Given the description of an element on the screen output the (x, y) to click on. 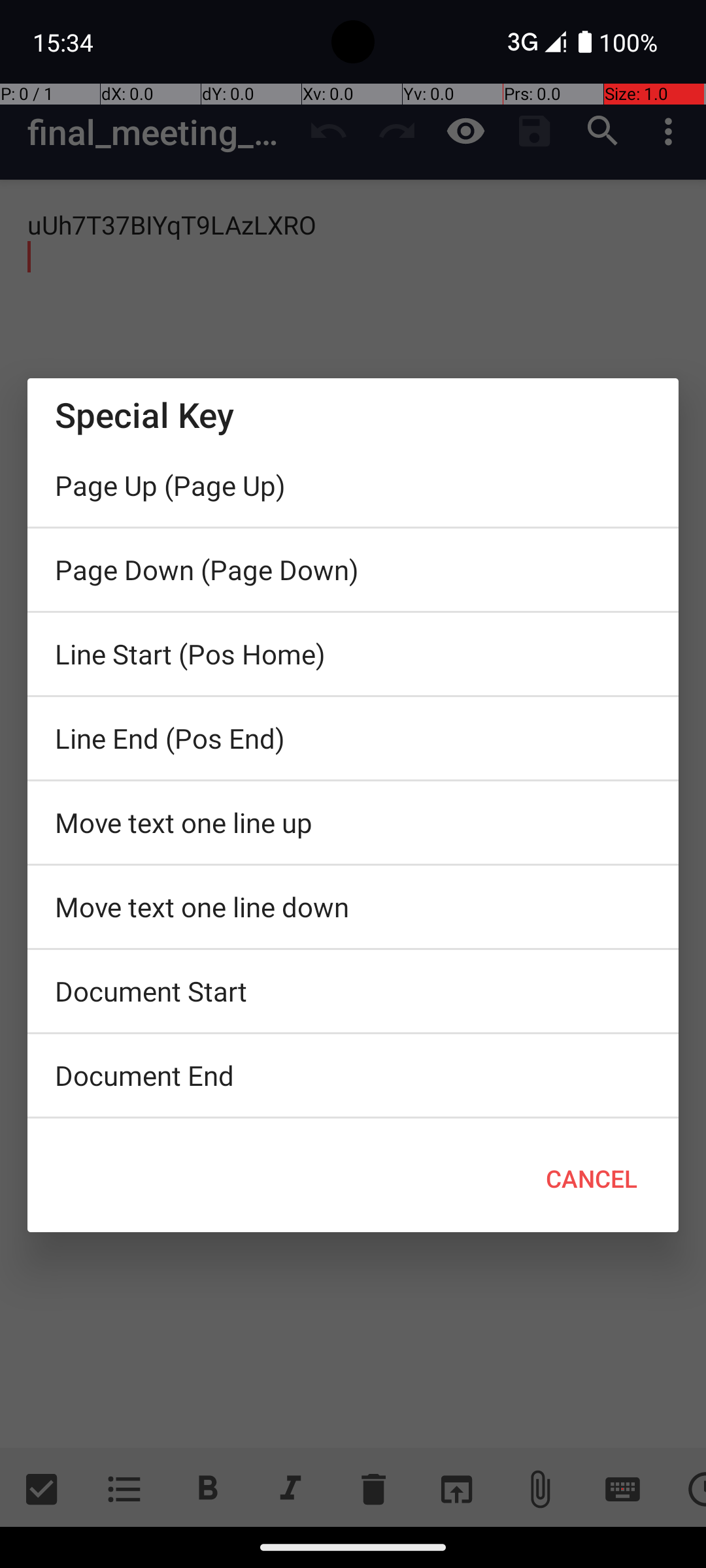
Page Up (Page Up) Element type: android.widget.TextView (352, 485)
Page Down (Page Down) Element type: android.widget.TextView (352, 569)
Line Start (Pos Home) Element type: android.widget.TextView (352, 653)
Line End (Pos End) Element type: android.widget.TextView (352, 738)
Move text one line up Element type: android.widget.TextView (352, 822)
Move text one line down Element type: android.widget.TextView (352, 906)
Document Start Element type: android.widget.TextView (352, 990)
Document End Element type: android.widget.TextView (352, 1075)
Select all (Ctrl+A) Element type: android.widget.TextView (352, 1121)
